Given the description of an element on the screen output the (x, y) to click on. 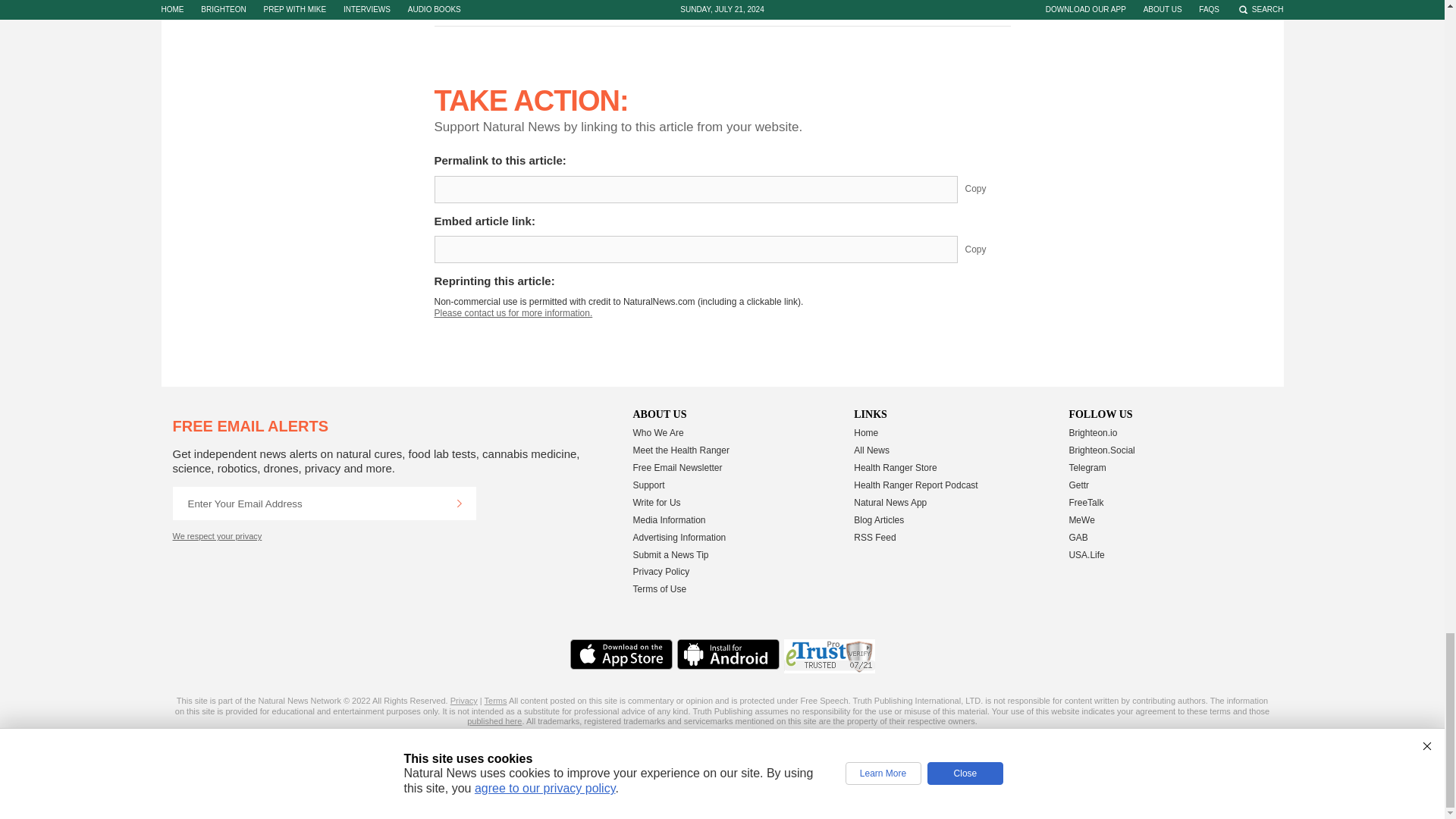
Copy Embed Link (986, 248)
eTrust Pro Certified (829, 656)
Copy Permalink (986, 189)
Continue (459, 503)
